Given the description of an element on the screen output the (x, y) to click on. 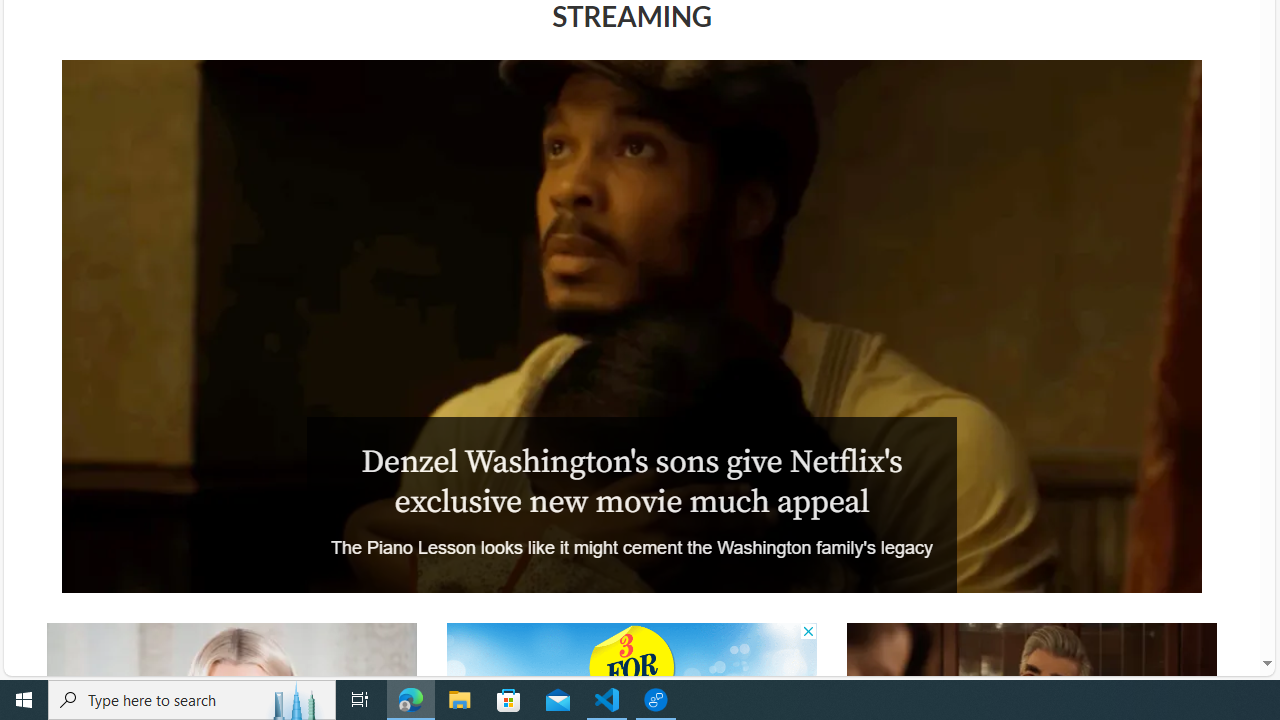
The Piano Lesson (631, 326)
